Given the description of an element on the screen output the (x, y) to click on. 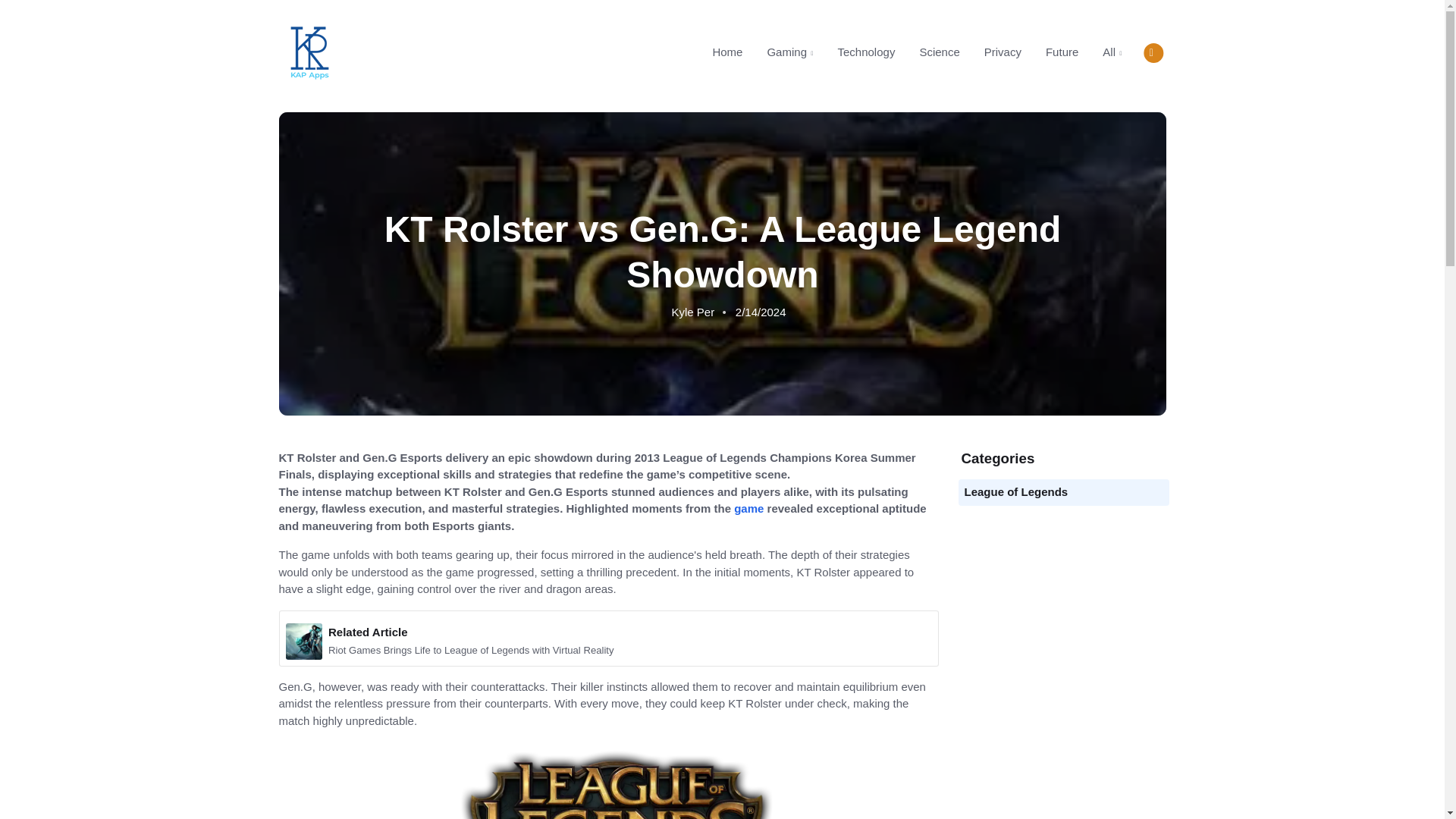
Technology (866, 52)
Kyle Per (692, 311)
Gaming (789, 52)
Science (939, 52)
Privacy (1002, 52)
game (748, 508)
League of Legends (910, 52)
